Given the description of an element on the screen output the (x, y) to click on. 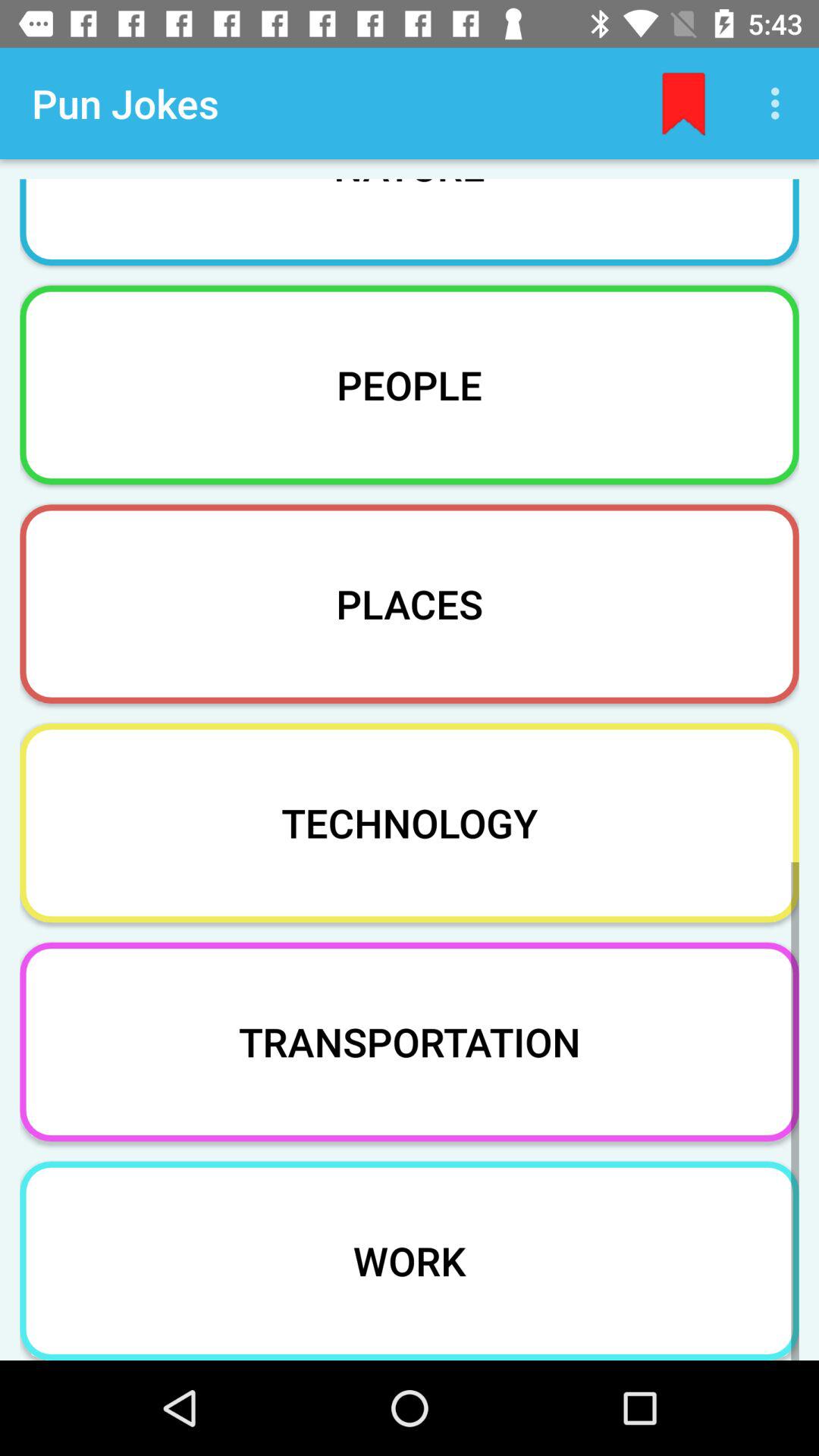
open technology (409, 822)
